Given the description of an element on the screen output the (x, y) to click on. 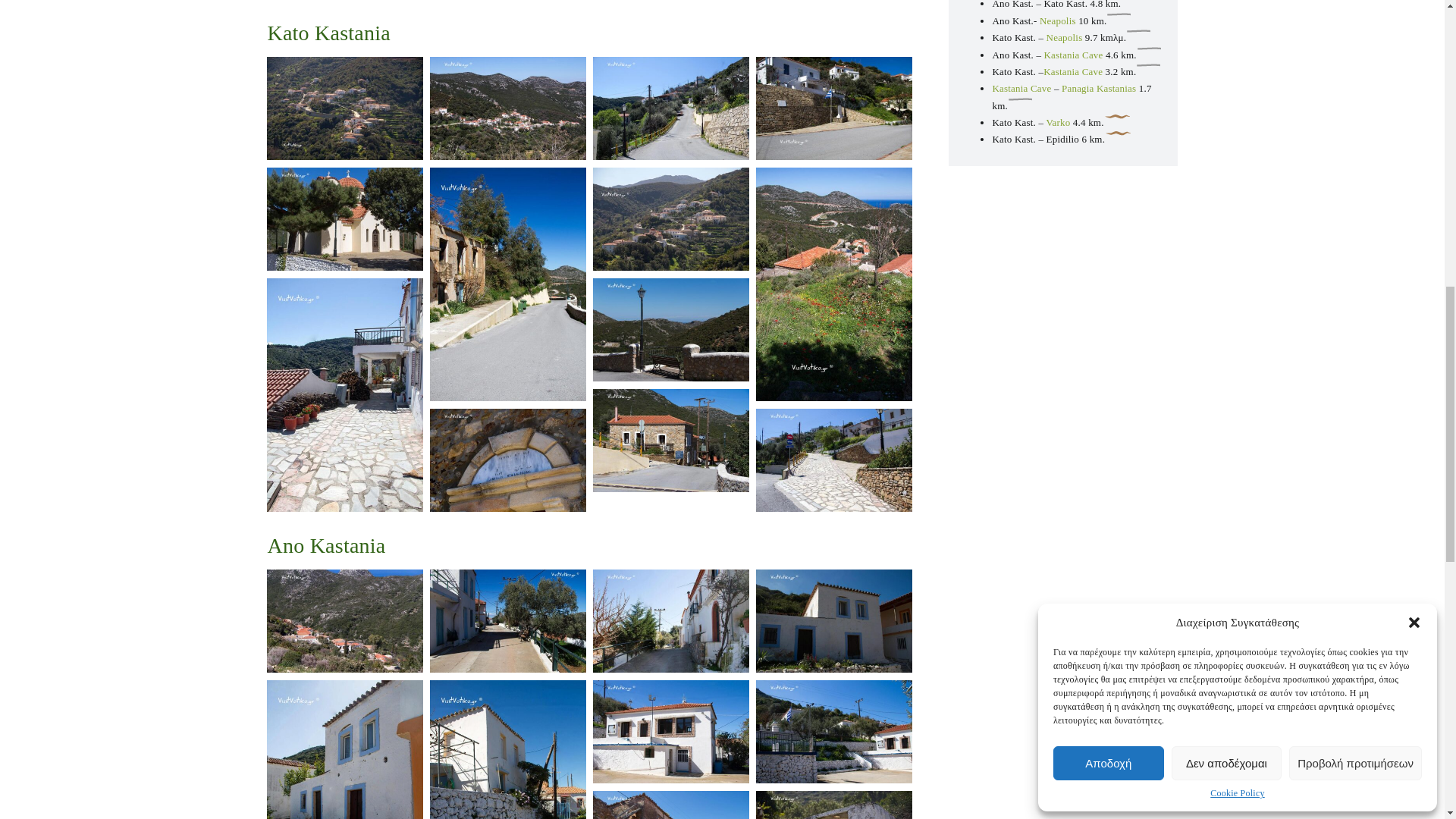
KatoKastanea01 (507, 107)
KatoKastanea02 (670, 107)
KatoKastanea05 (670, 329)
KatoKastanea06 (670, 440)
KatoKastanea11 (344, 219)
KatoKastanea12 (670, 219)
KatoKastanea03 (833, 107)
KatoKastanea (344, 108)
